Given the description of an element on the screen output the (x, y) to click on. 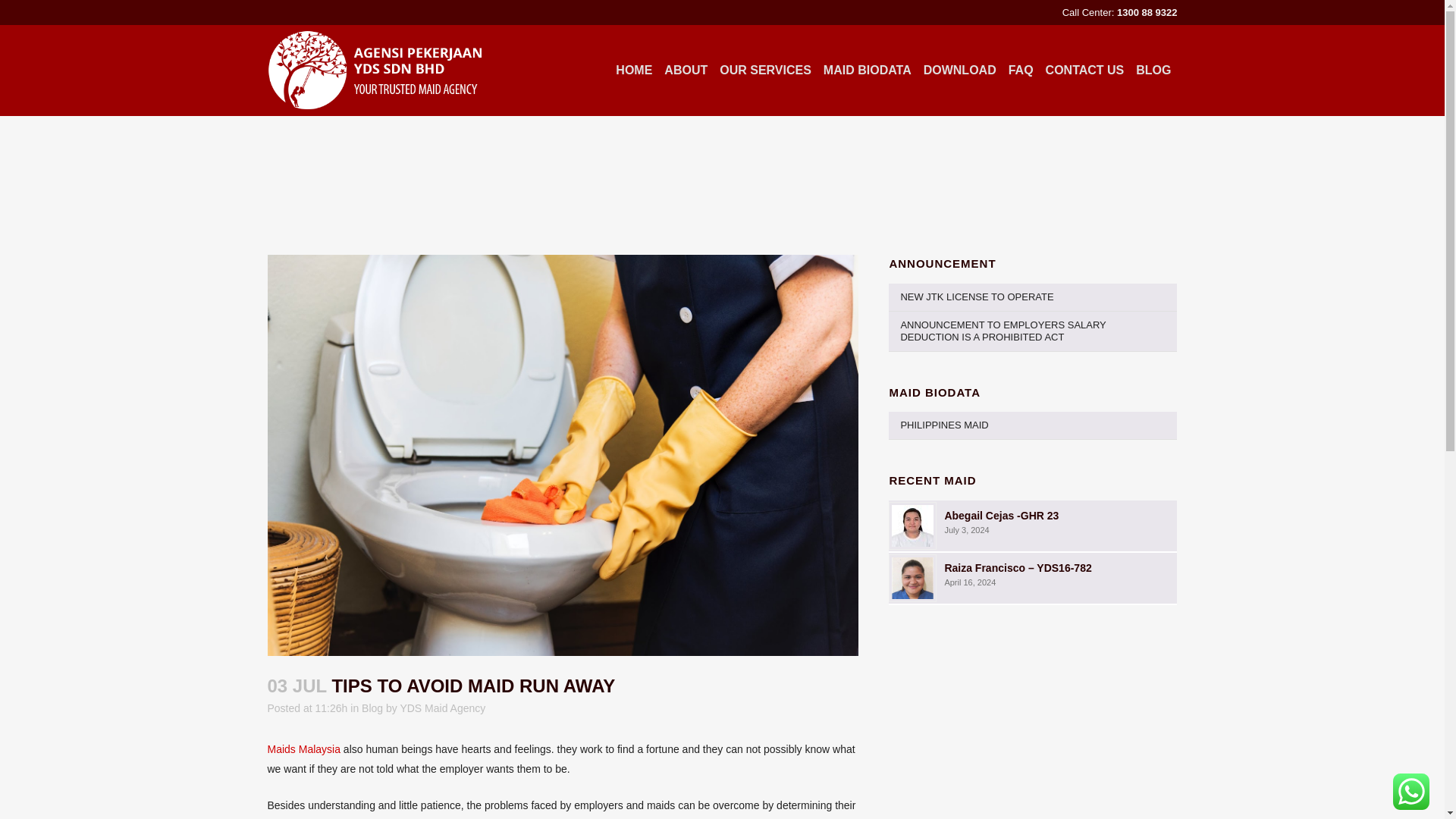
MAID BIODATA (866, 70)
YDS Maid Agency (441, 707)
OUR SERVICES (764, 70)
CONTACT US (1085, 70)
DOWNLOAD (960, 70)
PHILIPPINES MAID (1032, 424)
Maids Malaysia (302, 748)
NEW JTK LICENSE TO OPERATE (1032, 297)
Blog (371, 707)
Abegail Cejas -GHR 23 (1000, 515)
